Given the description of an element on the screen output the (x, y) to click on. 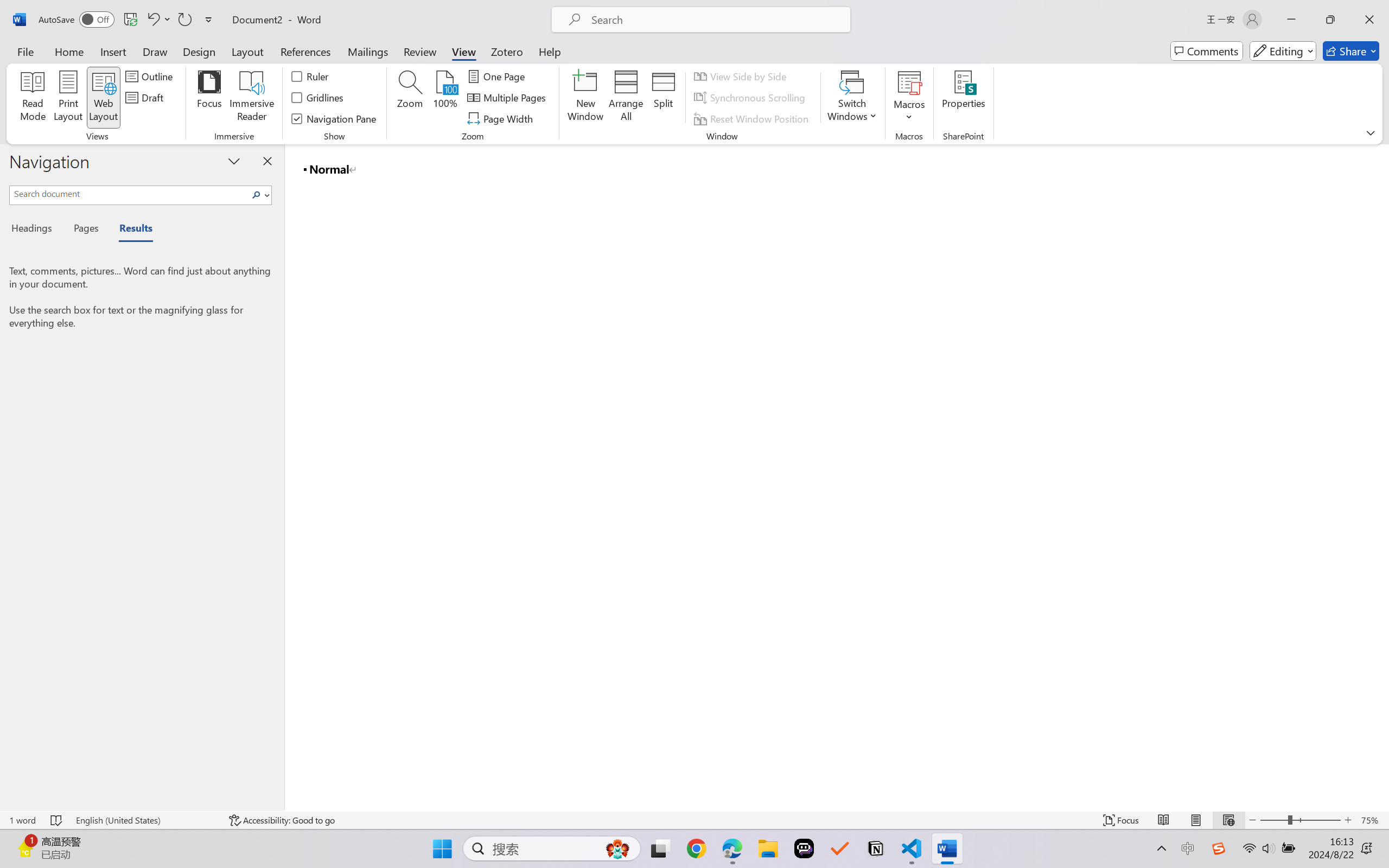
Spelling and Grammar Check No Errors (56, 819)
Review (419, 51)
Comments (1206, 50)
Layout (246, 51)
Help (549, 51)
Zotero (506, 51)
Quick Access Toolbar (127, 19)
